Given the description of an element on the screen output the (x, y) to click on. 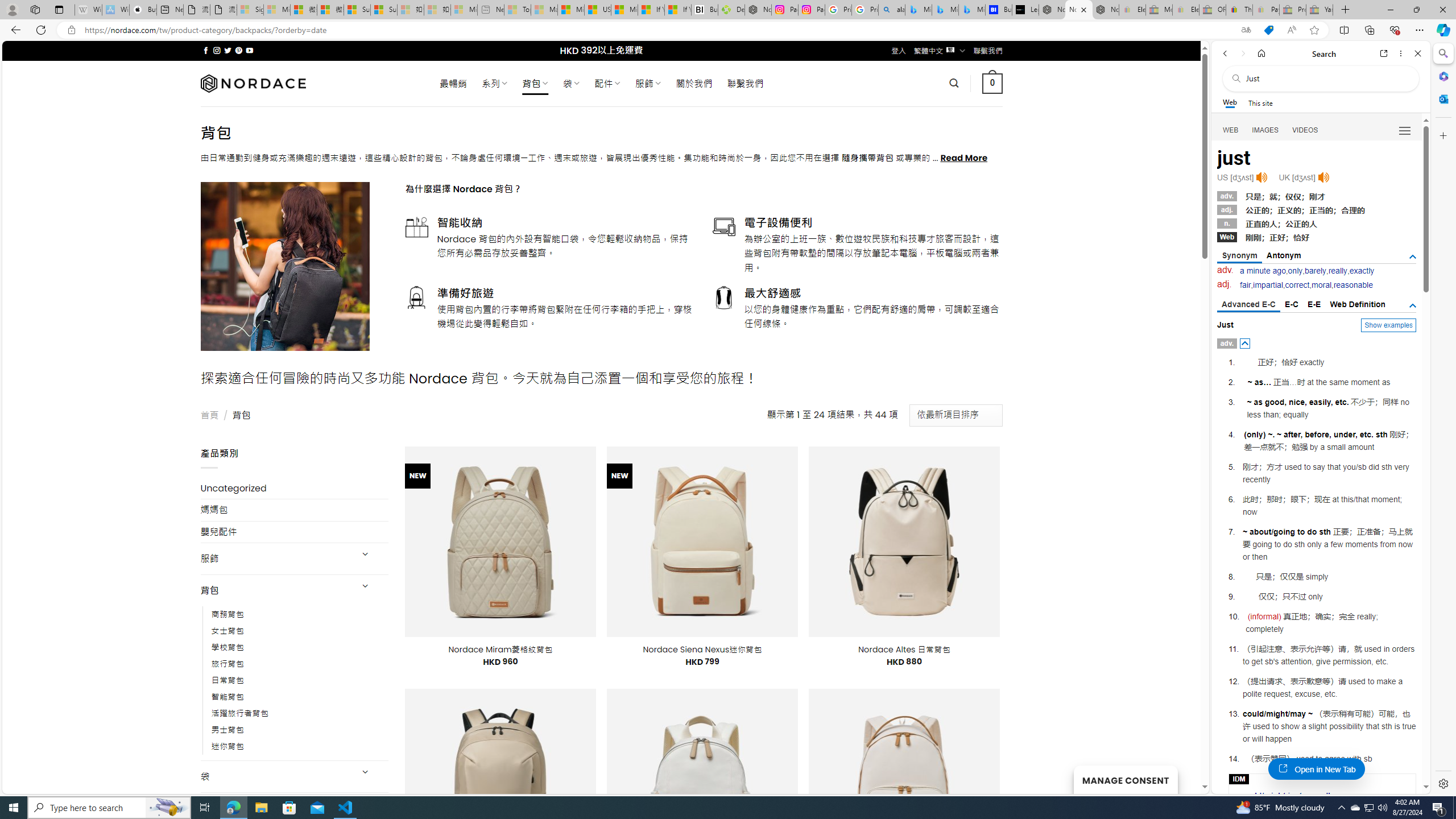
Show translate options (1245, 29)
Web Definition (1357, 304)
correct (1297, 284)
Follow on Instagram (216, 50)
